Given the description of an element on the screen output the (x, y) to click on. 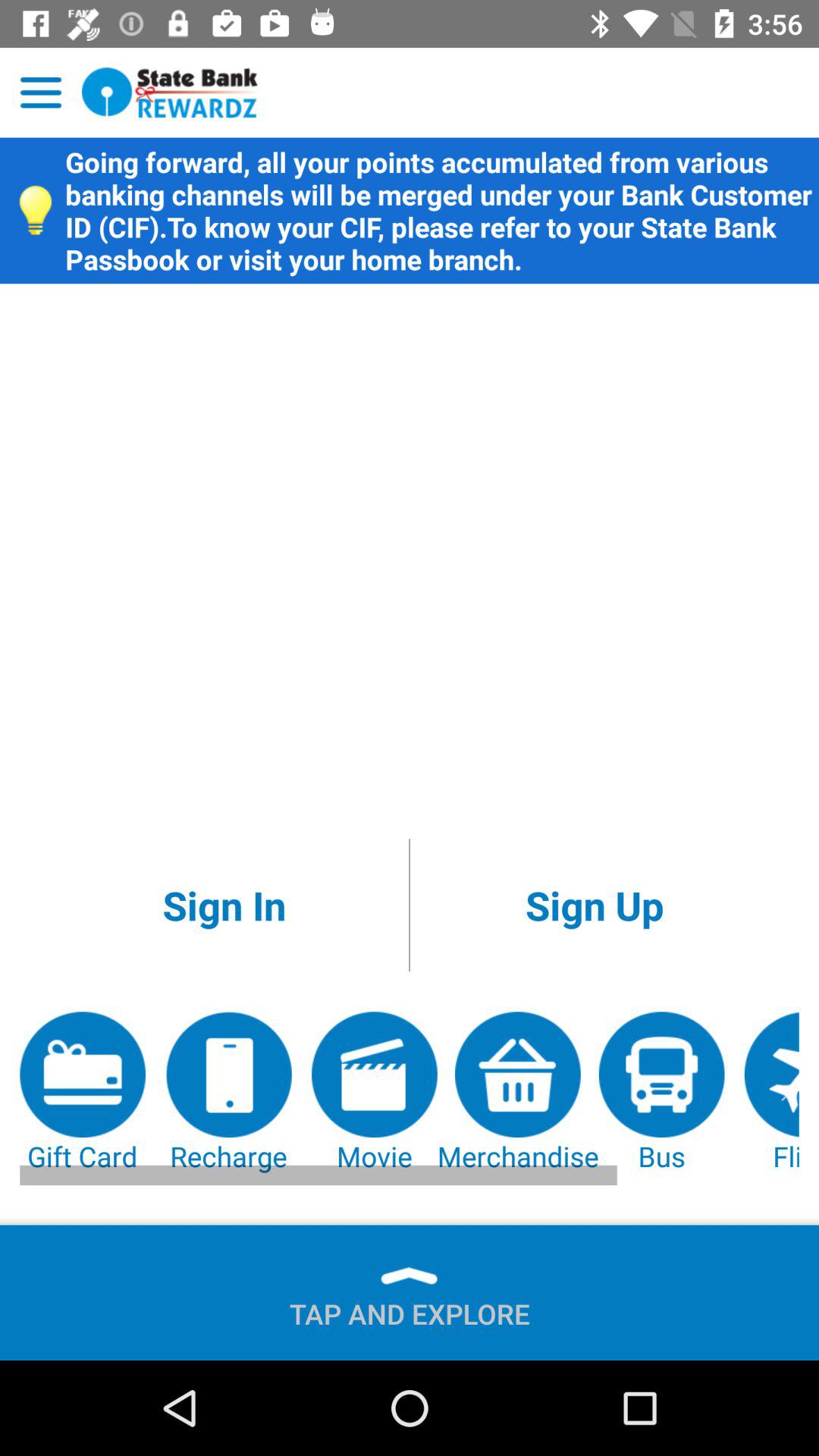
launch item below the gift card icon (409, 1307)
